Given the description of an element on the screen output the (x, y) to click on. 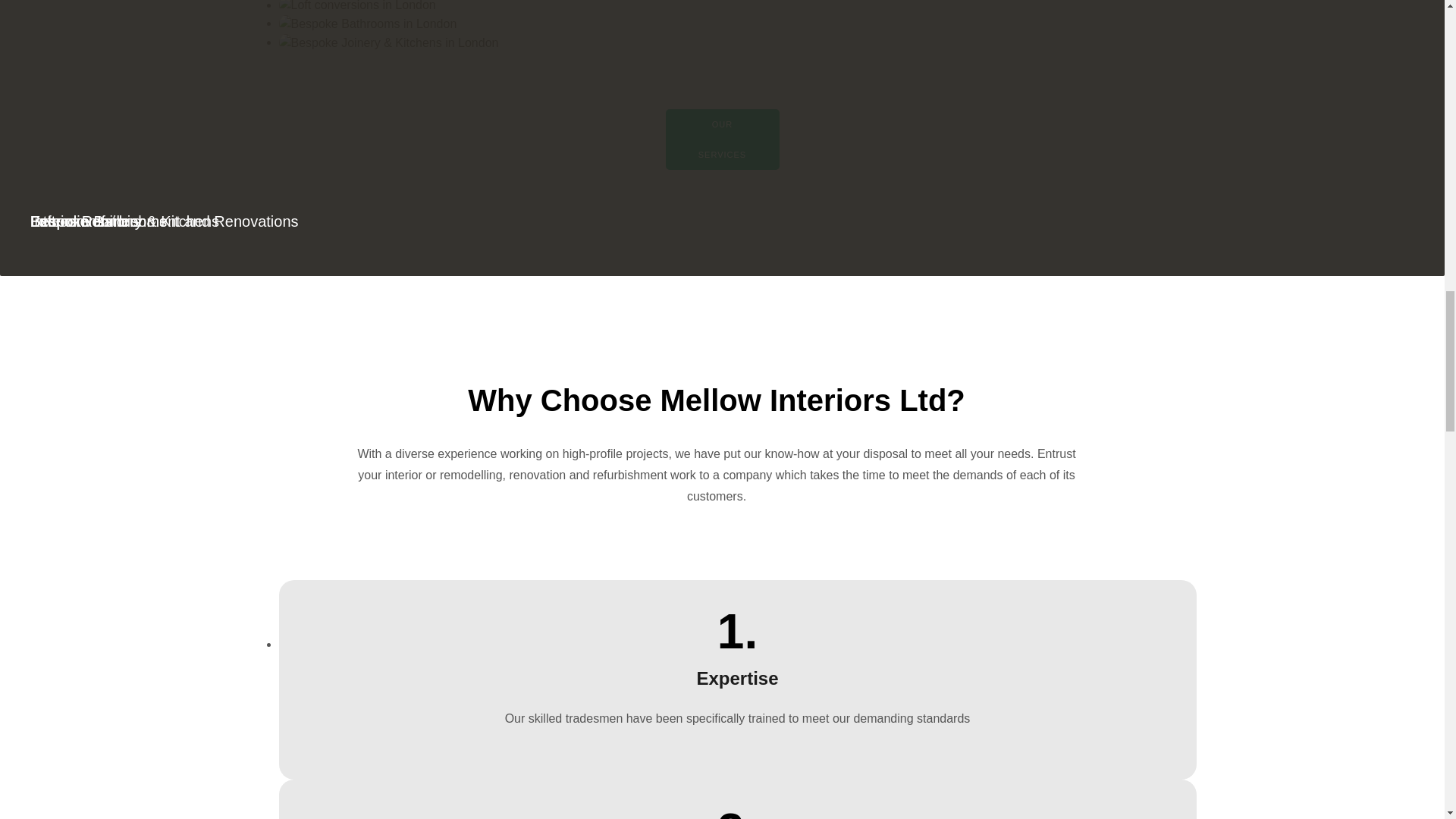
OUR SERVICES (721, 138)
Loft conversions (737, 7)
Bespoke Bathrooms (737, 23)
